Given the description of an element on the screen output the (x, y) to click on. 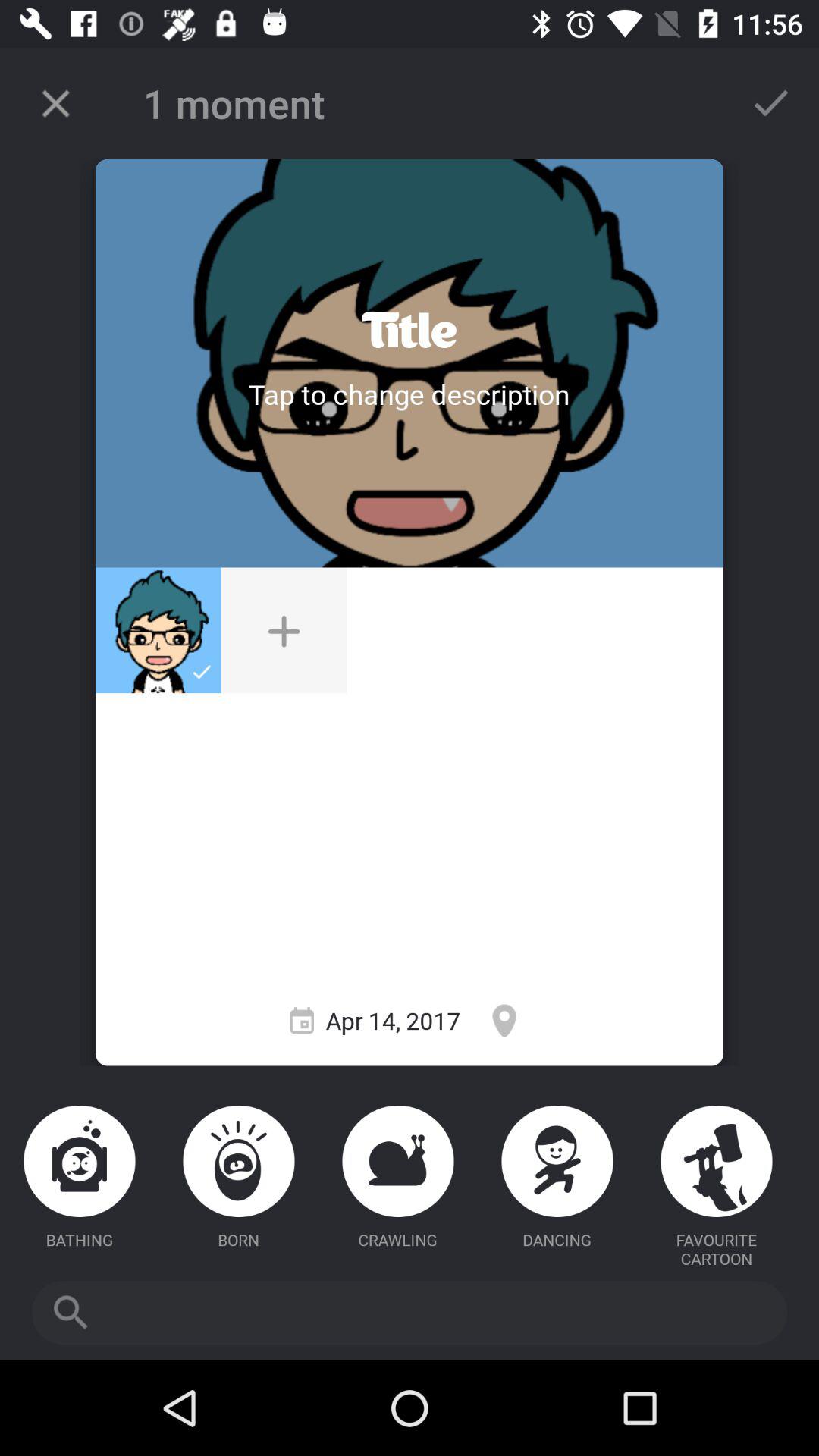
click on add button (283, 630)
